Given the description of an element on the screen output the (x, y) to click on. 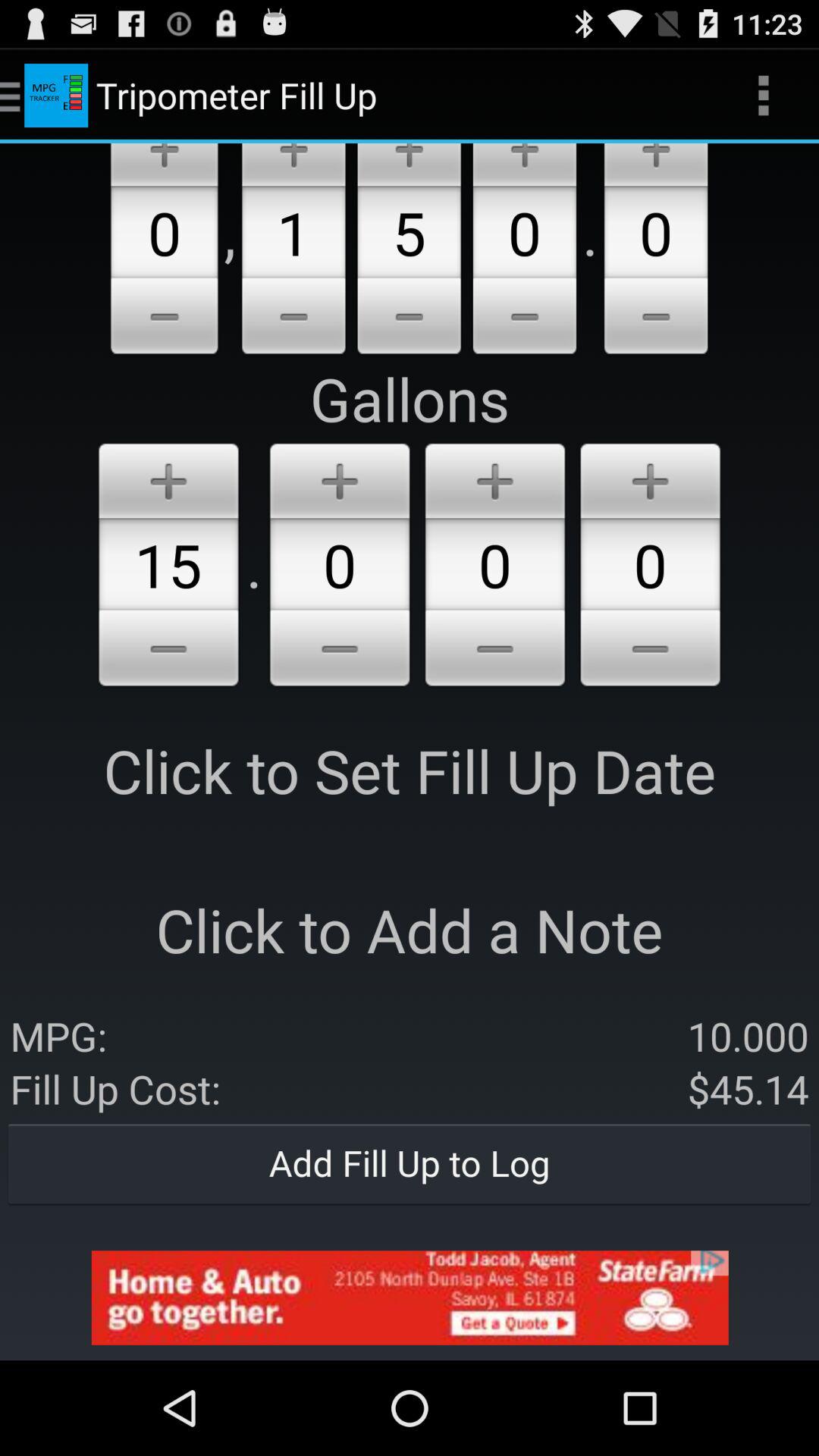
reduce one number (494, 651)
